Given the description of an element on the screen output the (x, y) to click on. 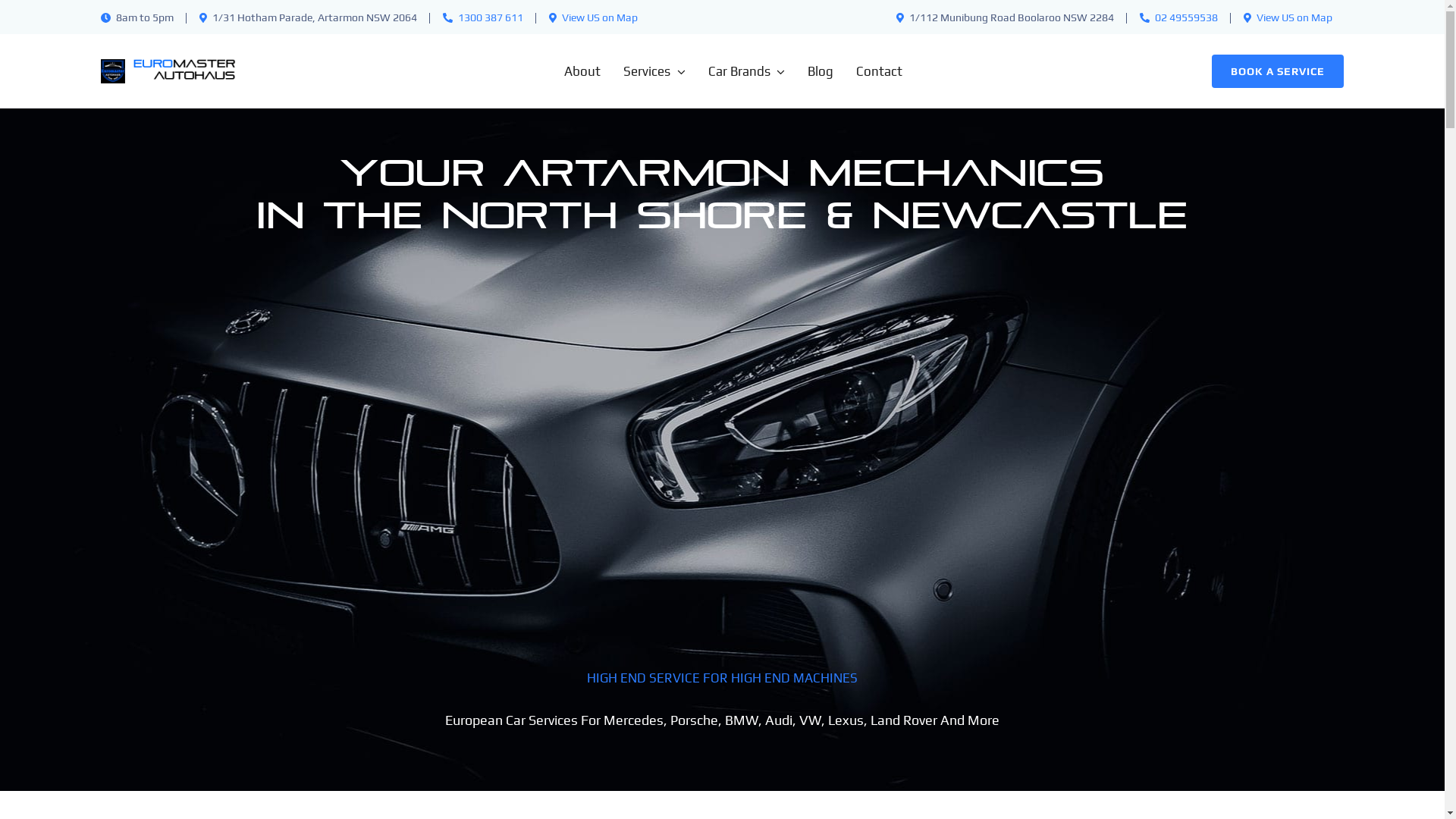
View US on Map Element type: text (1287, 17)
View US on Map Element type: text (593, 17)
1300 387 611 Element type: text (490, 17)
Contact Element type: text (867, 70)
BOOK A SERVICE Element type: text (1277, 70)
02 49559538 Element type: text (1185, 17)
Car Brands Element type: text (735, 70)
About Element type: text (570, 70)
Services Element type: text (642, 70)
Blog Element type: text (808, 70)
